Given the description of an element on the screen output the (x, y) to click on. 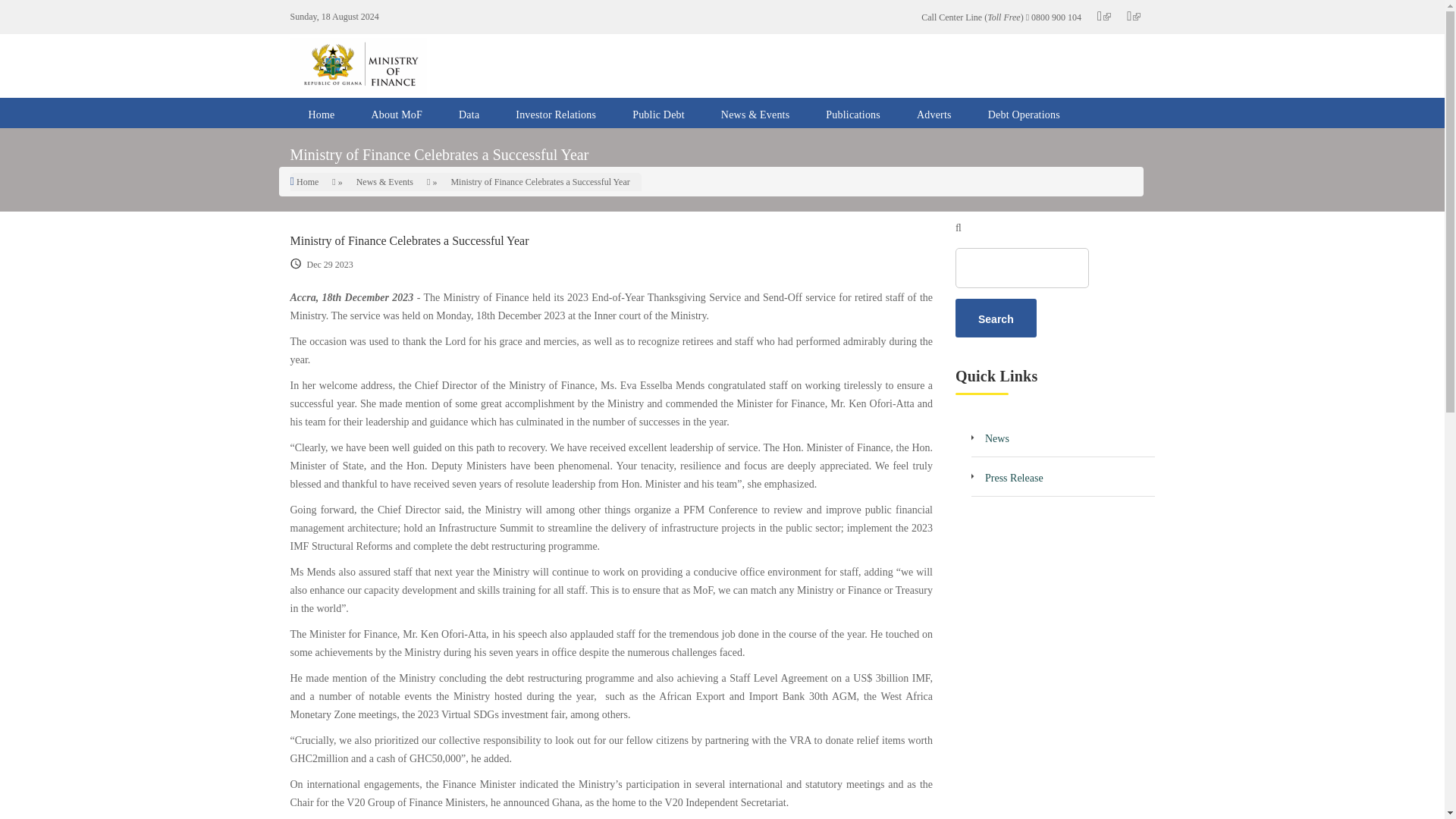
Debt Operations (1023, 112)
About MoF (397, 112)
Home (307, 181)
Adverts (933, 112)
Investor Relations (555, 112)
Ministry of Finance Celebrates a Successful Year (538, 181)
Home (320, 112)
Ministry of Finance Celebrates a Successful Year (408, 240)
Publications (853, 112)
